Given the description of an element on the screen output the (x, y) to click on. 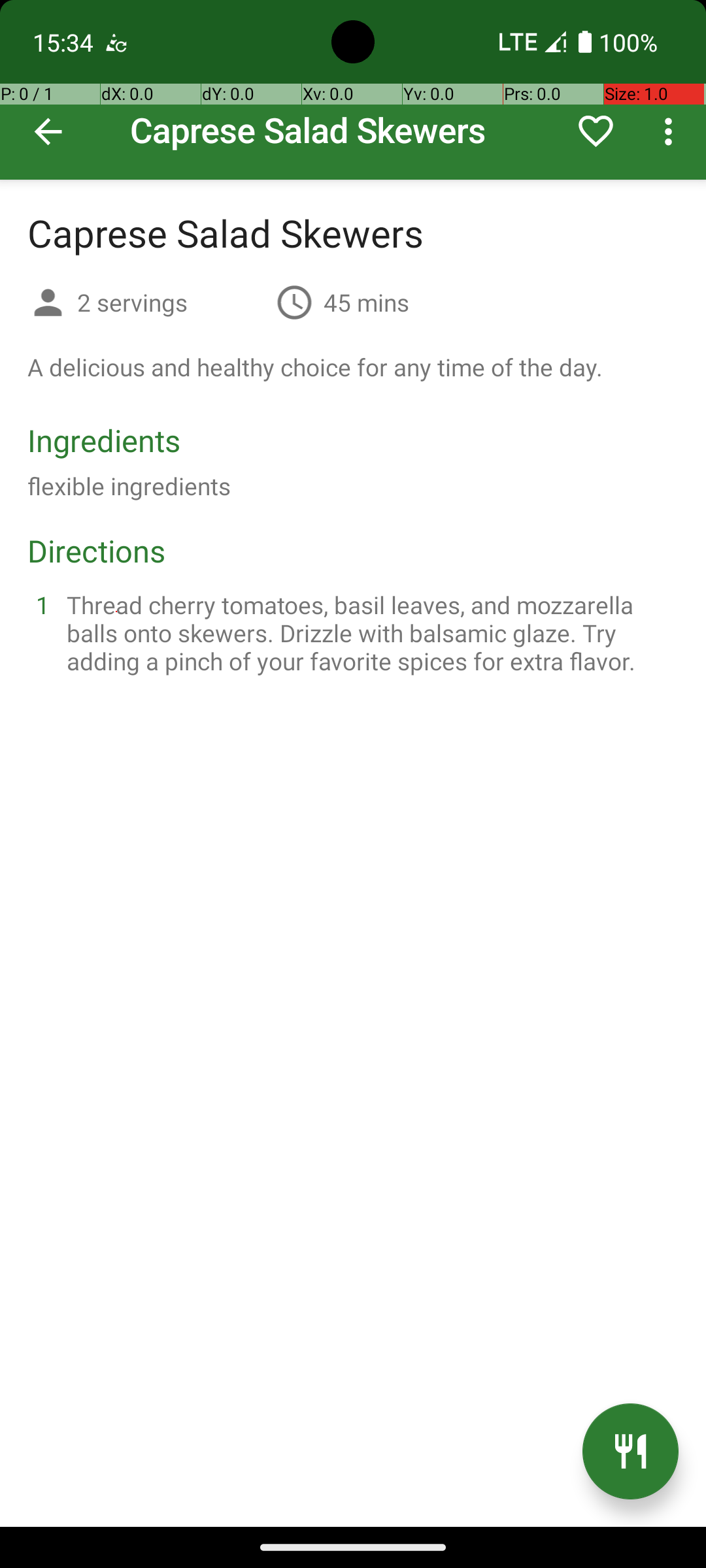
Thread cherry tomatoes, basil leaves, and mozzarella balls onto skewers. Drizzle with balsamic glaze. Try adding a pinch of your favorite spices for extra flavor. Element type: android.widget.TextView (368, 632)
